Given the description of an element on the screen output the (x, y) to click on. 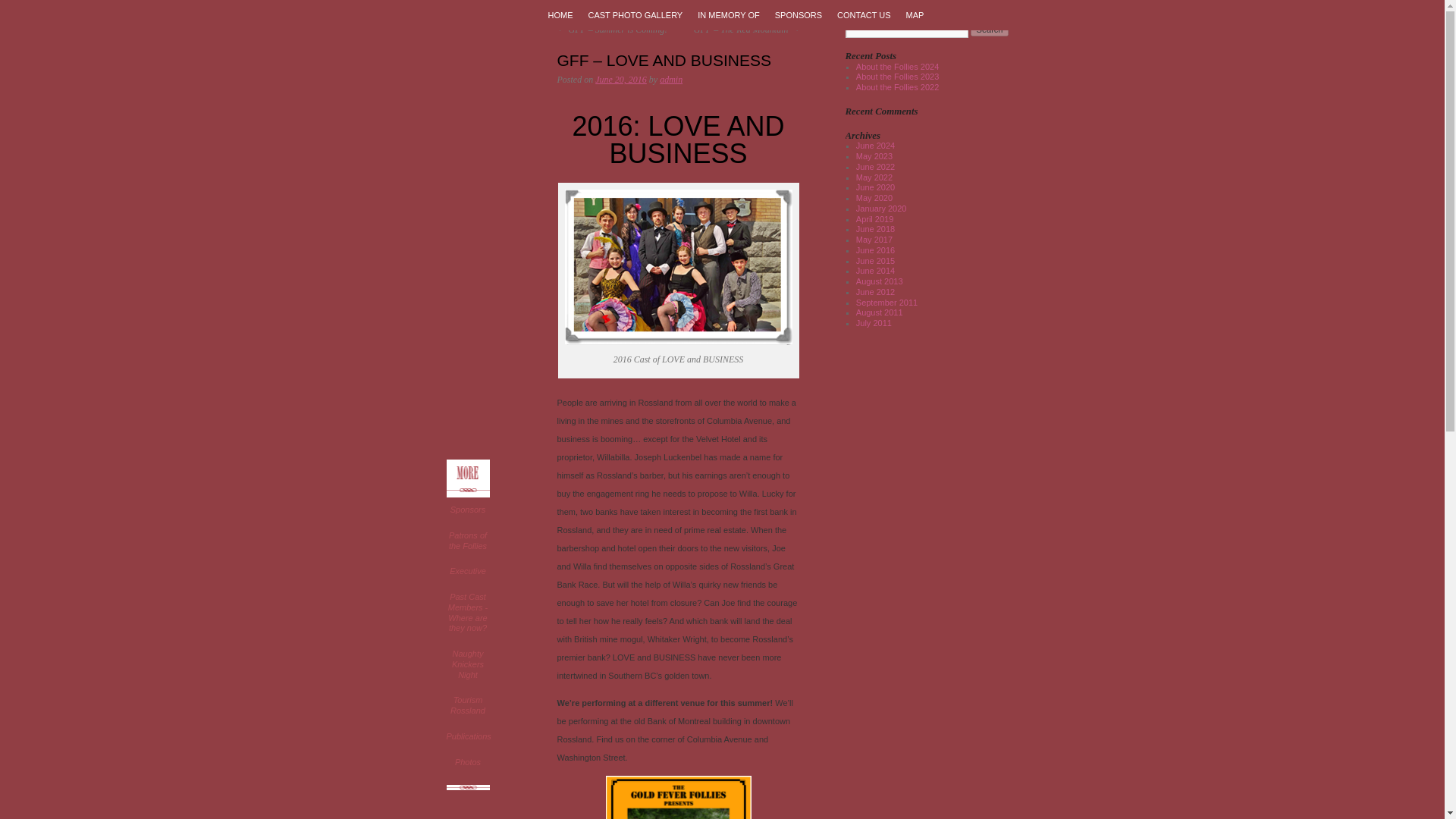
HOME (559, 15)
Auditions (446, 227)
Tourism Rossland (467, 705)
LOVE and BUSINESS poster (678, 797)
IN MEMORY OF (728, 15)
June 20, 2016 (620, 79)
About the Follies 2022 (897, 86)
admin (670, 79)
SPONSORS (798, 15)
10:09 pm (620, 79)
